Given the description of an element on the screen output the (x, y) to click on. 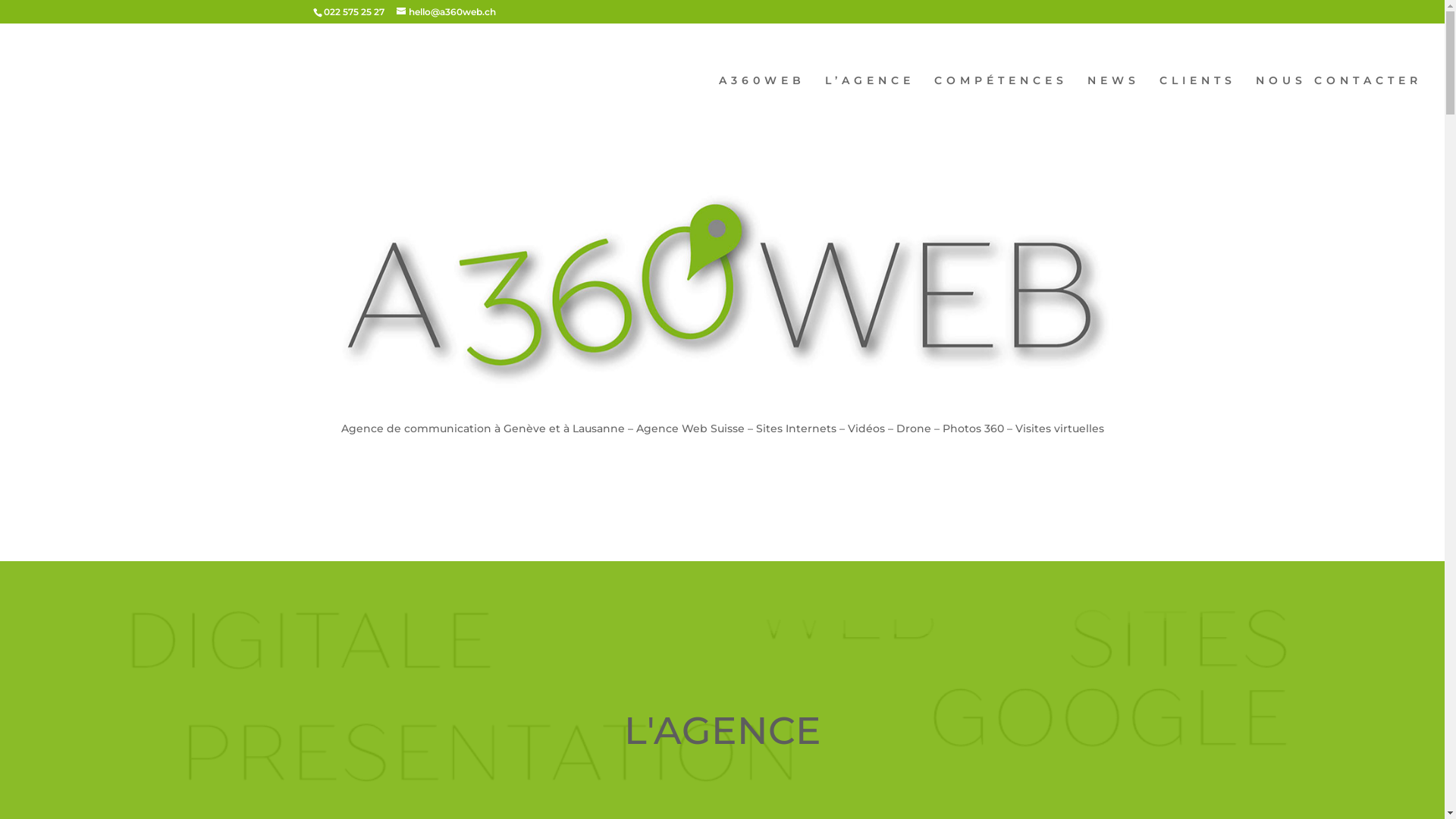
hello@a360web.ch Element type: text (445, 11)
A360WEB Element type: text (761, 106)
CLIENTS Element type: text (1197, 106)
NEWS Element type: text (1113, 106)
NOUS CONTACTER Element type: text (1338, 106)
